Given the description of an element on the screen output the (x, y) to click on. 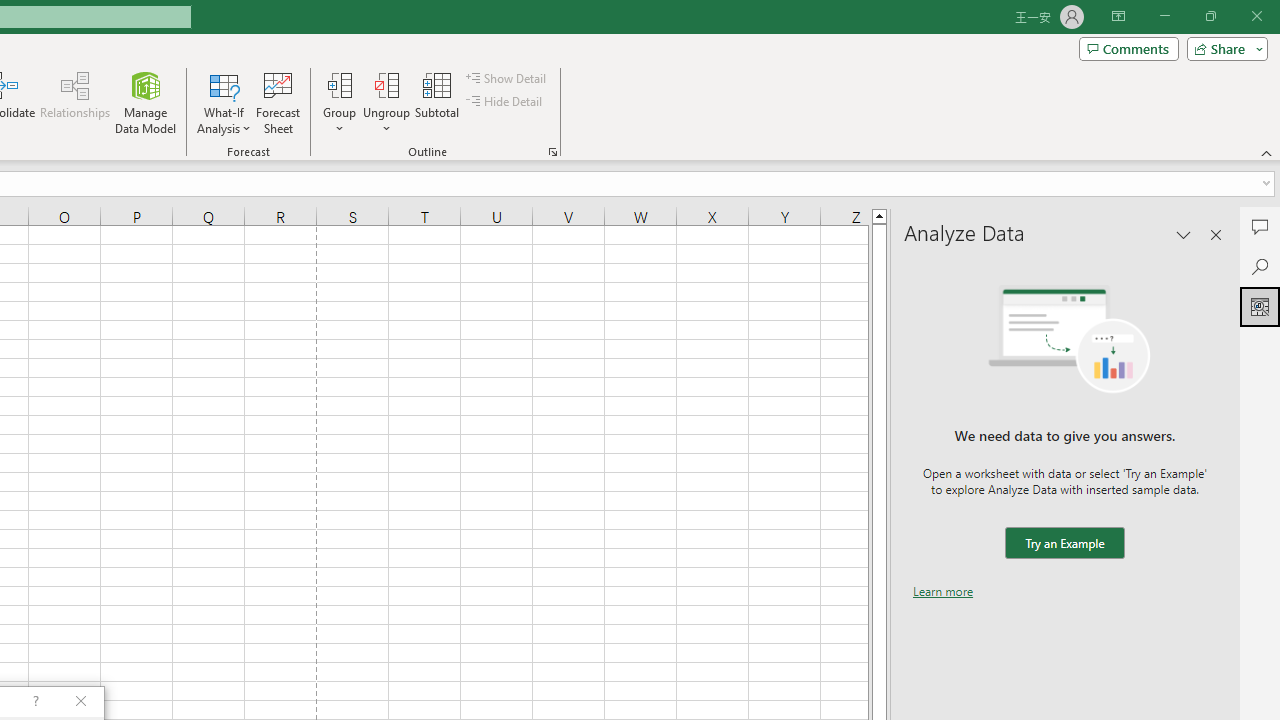
Task Pane Options (1183, 234)
Manage Data Model (145, 102)
Minimize (1164, 16)
Hide Detail (505, 101)
Search (1260, 266)
Close pane (1215, 234)
Group... (339, 84)
Group... (339, 102)
More Options (386, 121)
Relationships (75, 102)
Show Detail (507, 78)
Comments (1128, 48)
Ribbon Display Options (1118, 16)
Ungroup... (386, 84)
Collapse the Ribbon (1267, 152)
